Given the description of an element on the screen output the (x, y) to click on. 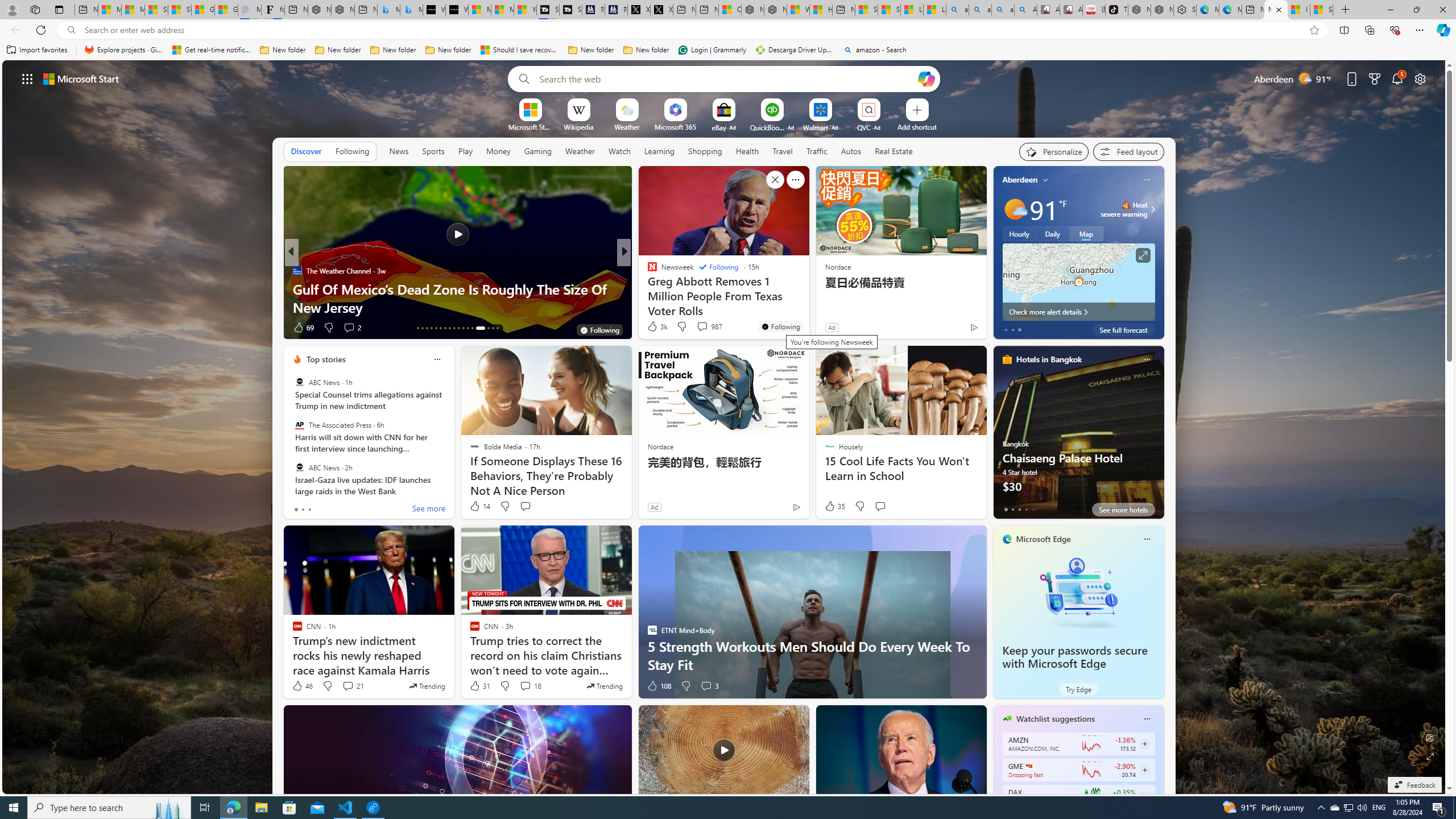
Favorites bar (728, 49)
View comments 987 Comment (708, 326)
Keep your passwords secure with Microsoft Edge (1077, 592)
View comments 18 Comment (525, 685)
Autos (851, 151)
FOX News (647, 270)
Class: icon-img (1146, 718)
31 Like (479, 685)
Gilma and Hector both pose tropical trouble for Hawaii (226, 9)
